Given the description of an element on the screen output the (x, y) to click on. 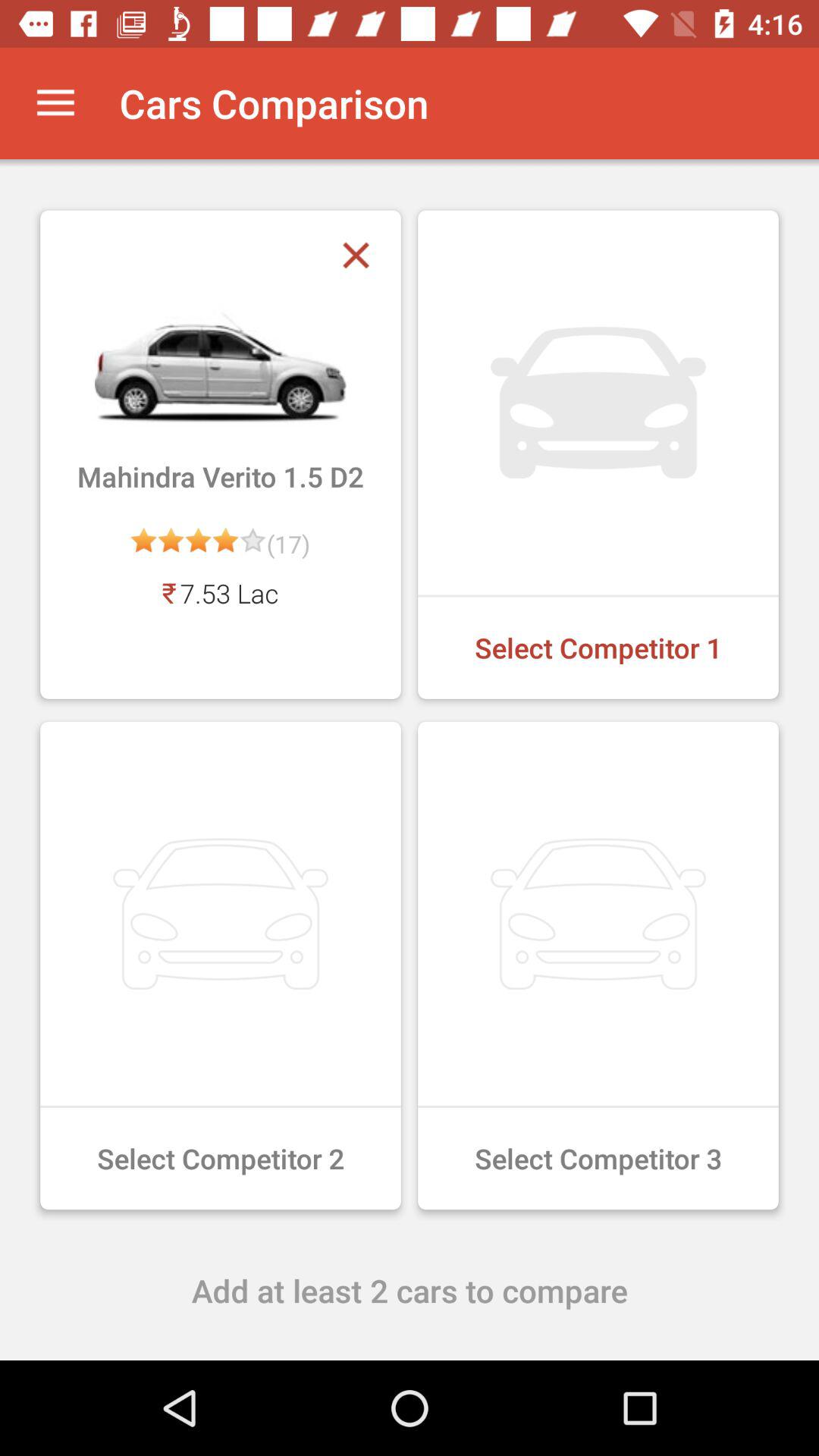
tap the icon to the left of the cars comparison (55, 103)
